Given the description of an element on the screen output the (x, y) to click on. 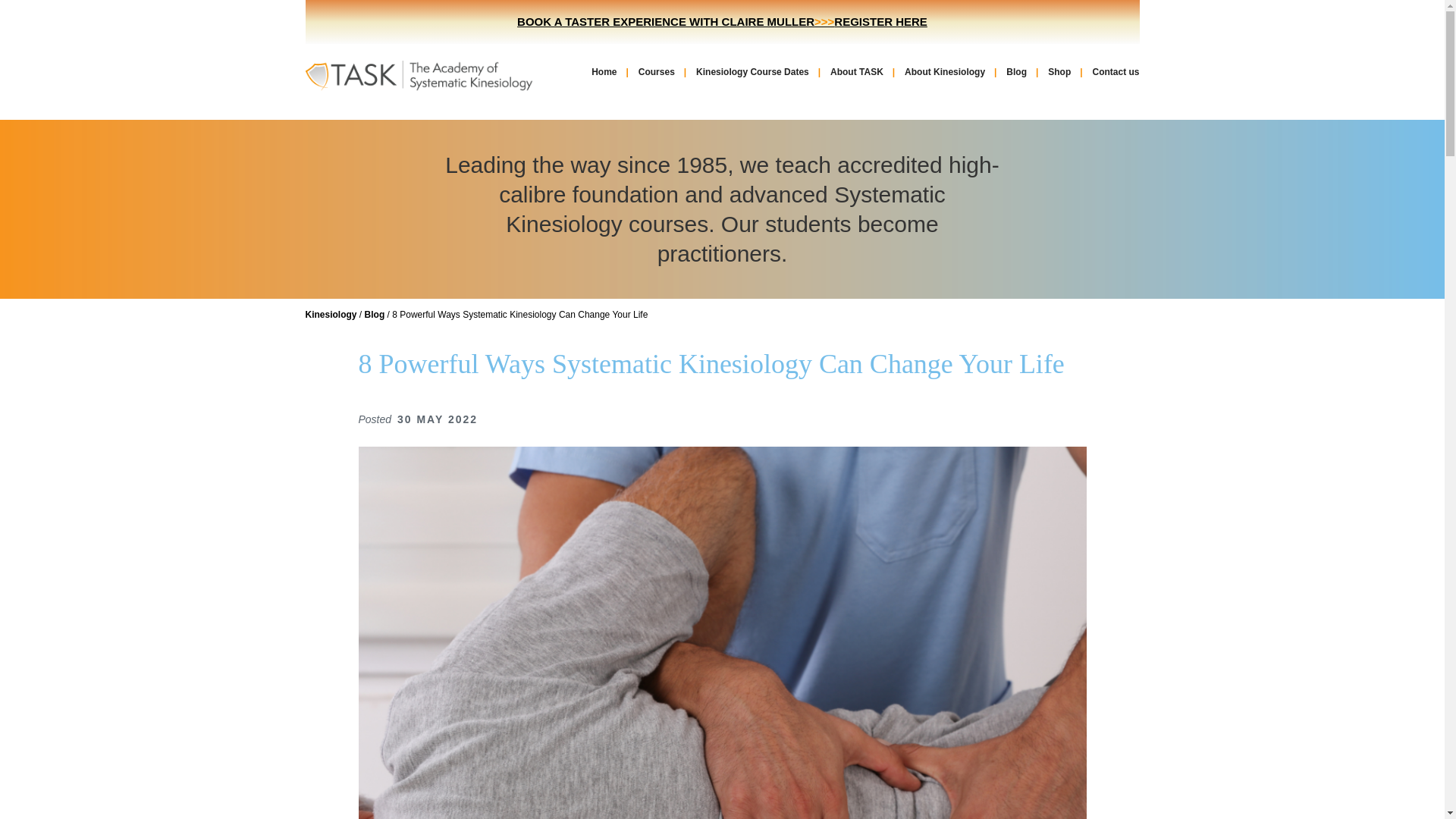
Courses (658, 71)
About Kinesiology (946, 71)
Home (606, 71)
Contact us (1111, 71)
About TASK (859, 71)
The Academy of Systematic Kinesiology (418, 74)
Kinesiology Course Dates (754, 71)
Shop (1061, 71)
Blog (1018, 71)
Kinesiology (330, 314)
Blog (375, 314)
